Given the description of an element on the screen output the (x, y) to click on. 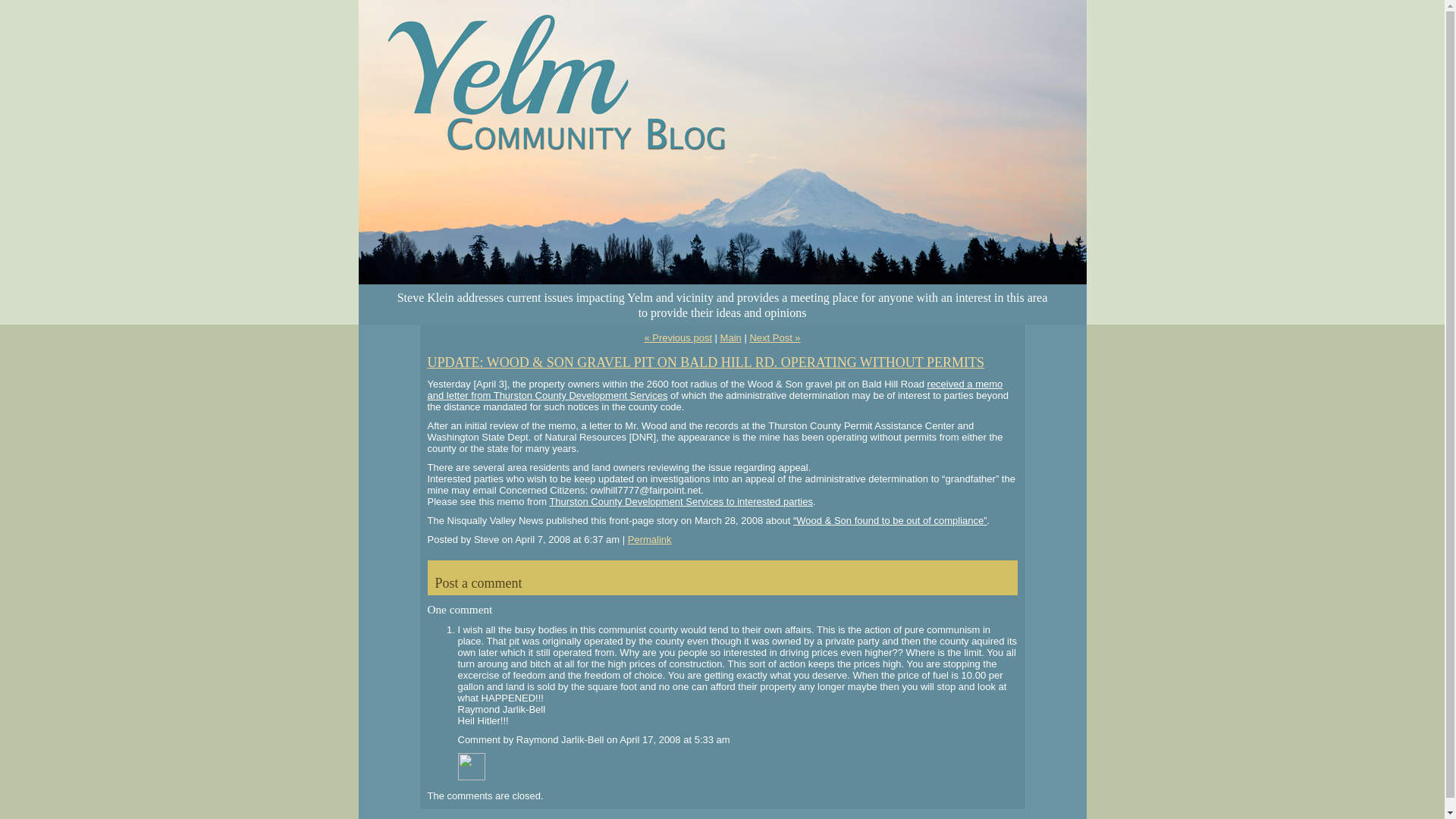
Main (730, 337)
Permalink (649, 539)
Thurston County Development Services to interested parties (680, 501)
